Given the description of an element on the screen output the (x, y) to click on. 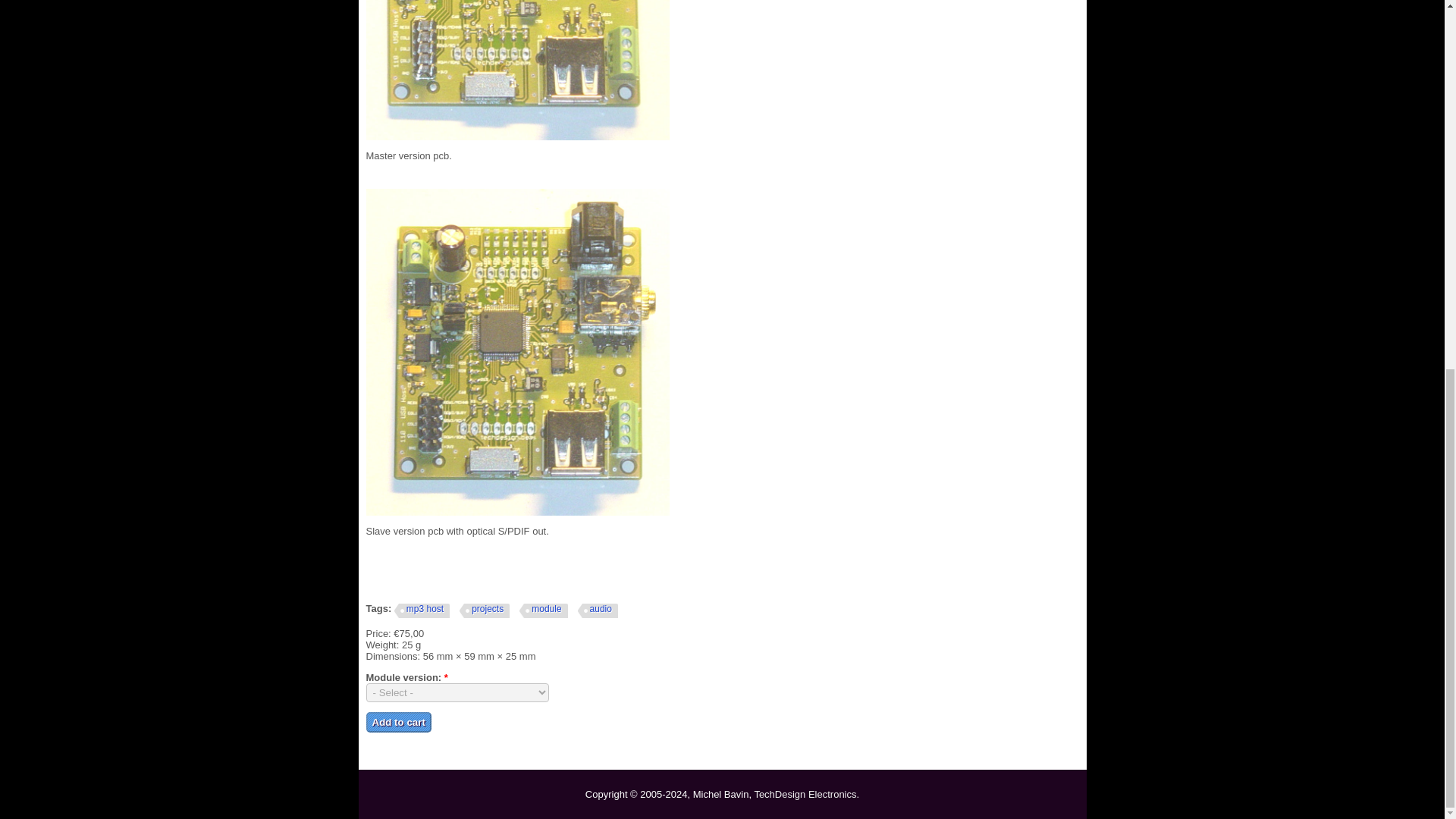
mp3 host (421, 611)
audio (597, 611)
TechDesign Electronics. (806, 794)
projects (484, 611)
Add to cart (397, 721)
module (543, 611)
Add to cart (397, 721)
